Given the description of an element on the screen output the (x, y) to click on. 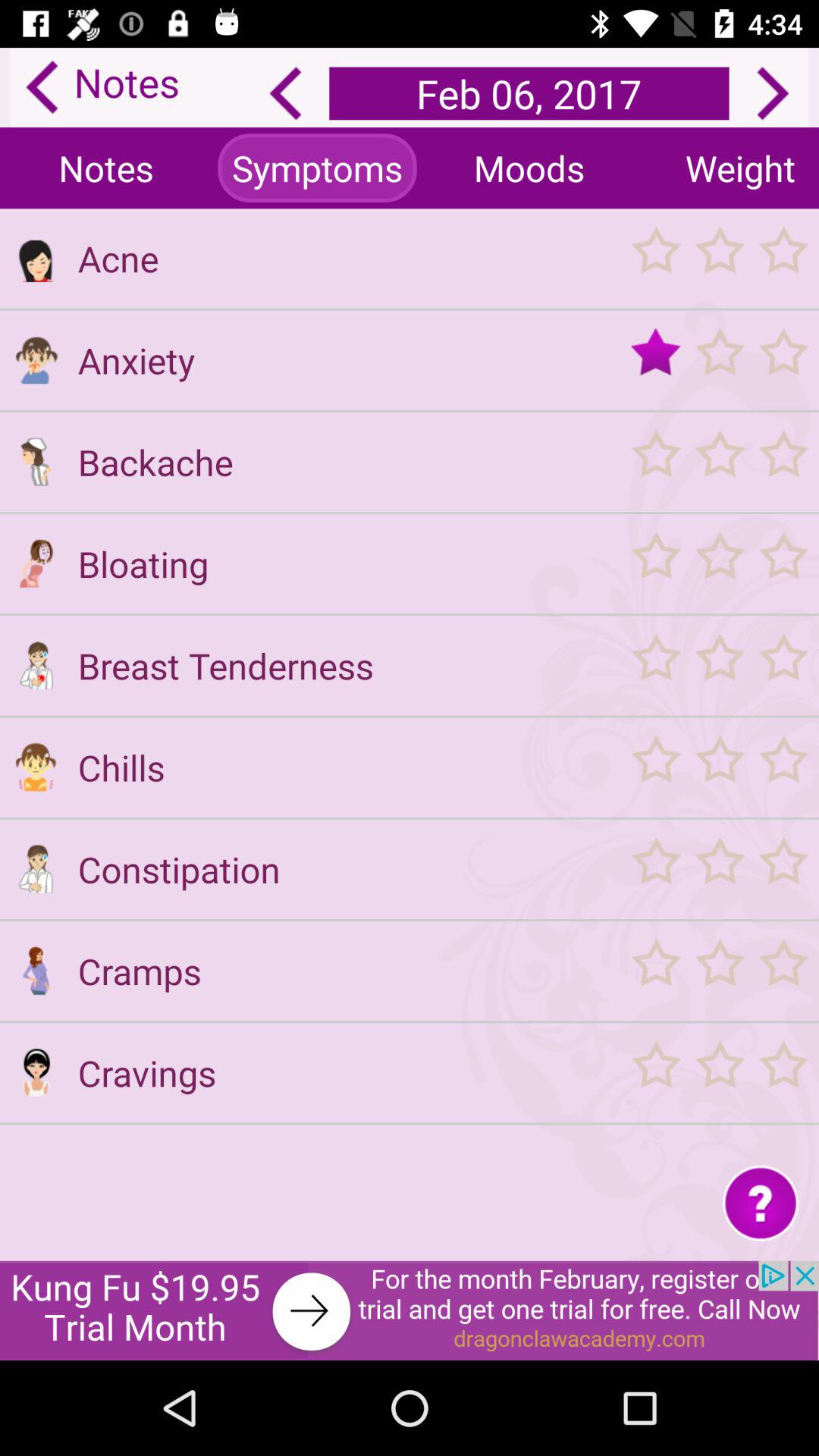
icon picture (35, 563)
